Given the description of an element on the screen output the (x, y) to click on. 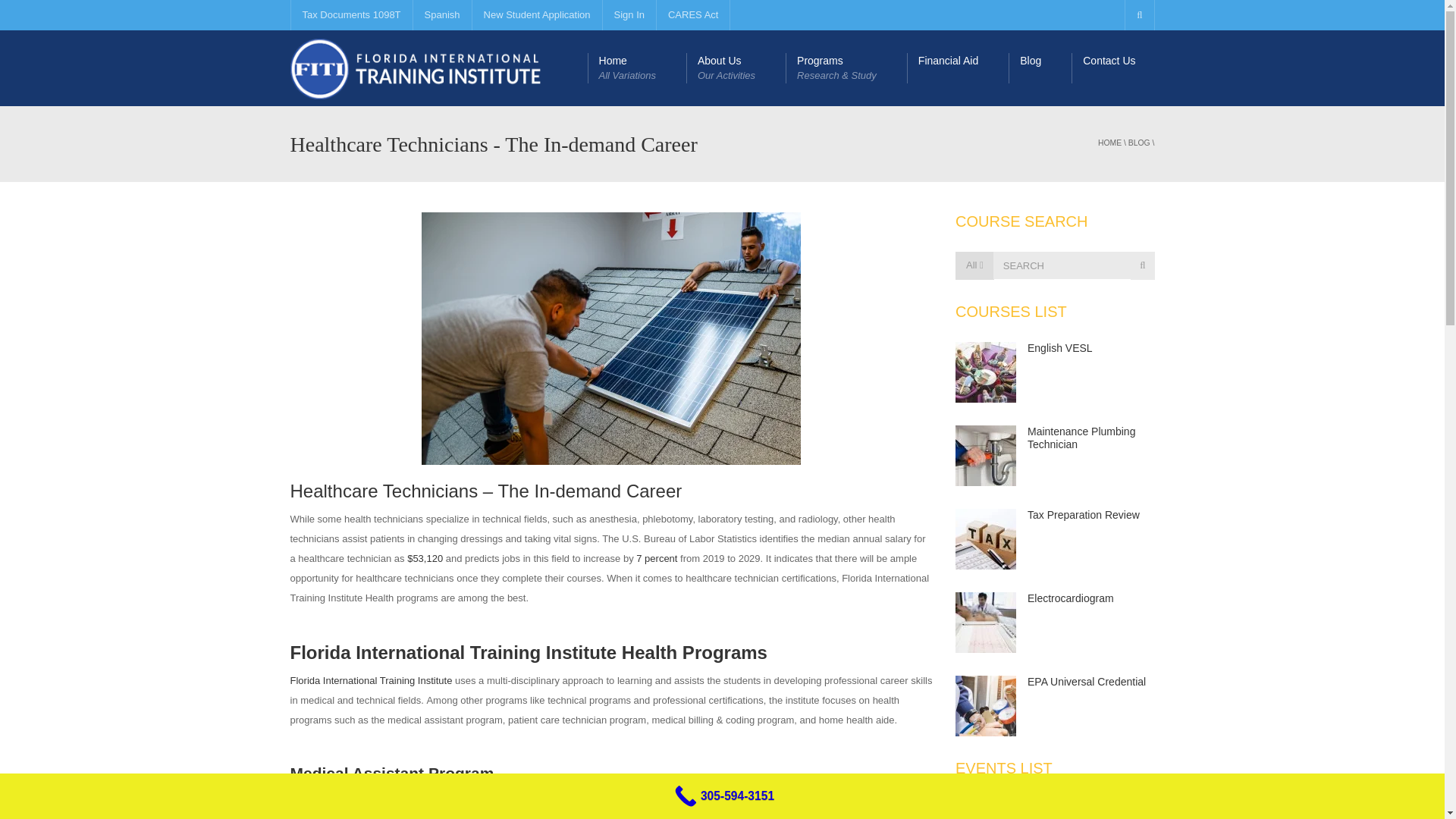
Spanish (441, 15)
Sign In (629, 15)
Tax Preparation Review (1083, 514)
Maintenance Plumbing Technician (985, 455)
Tax Preparation Review (985, 538)
English VESL (636, 68)
Electrocardiogram (1060, 347)
New Student Application (1070, 598)
English VESL (536, 15)
EPA Universal Credential (985, 372)
CARES Act (1086, 681)
Healthcare Technicians - The In-demand Career (735, 68)
Maintenance Plumbing Technician (693, 15)
